Given the description of an element on the screen output the (x, y) to click on. 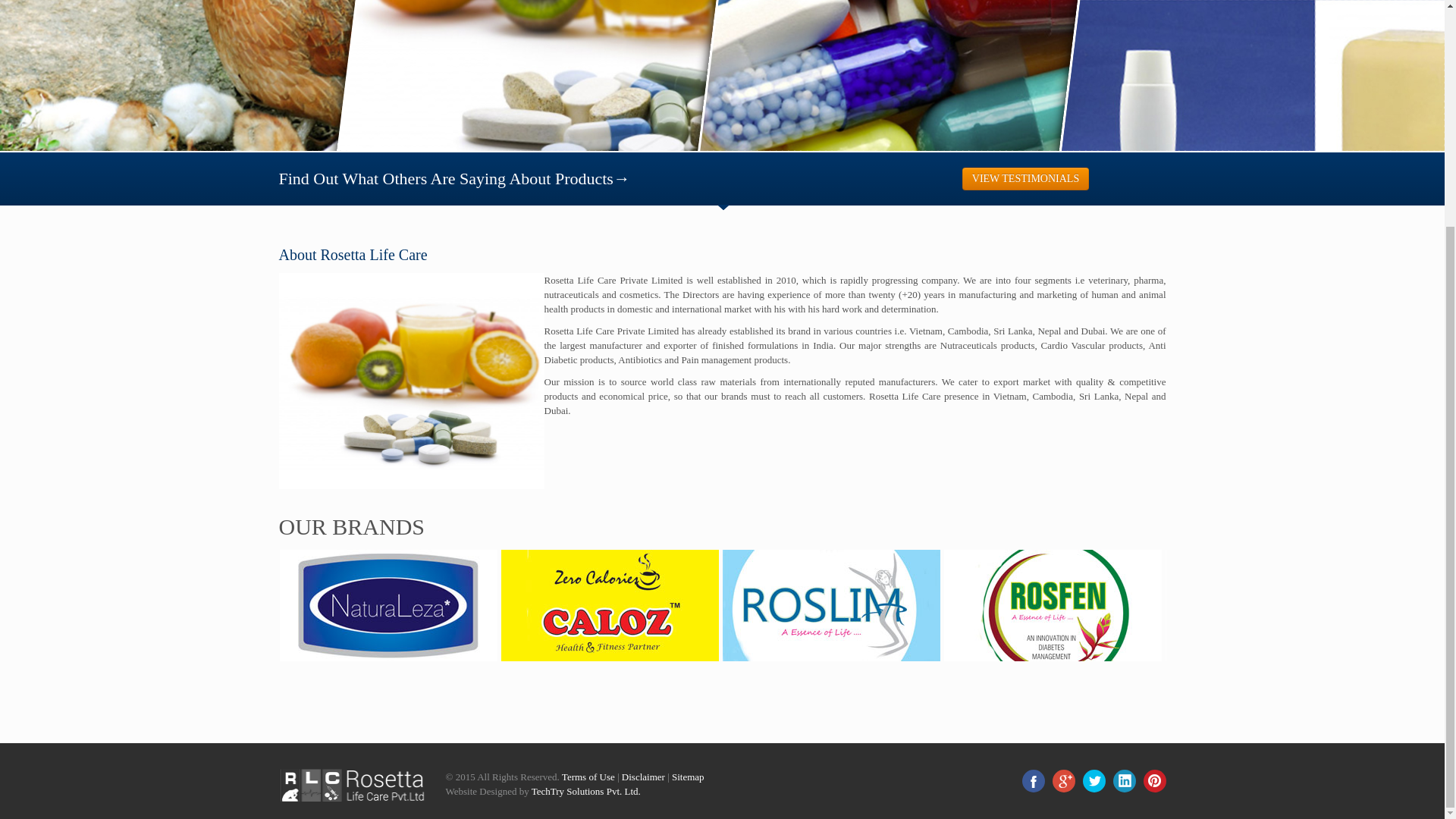
LinkedIn (1124, 780)
VIEW TESTIMONIALS (1025, 178)
Disclaimer (643, 776)
Pinterest (1154, 780)
Sitemap (687, 776)
Website Designing Company in Mumbai (585, 790)
Facebook (1033, 780)
Terms of Use (588, 776)
Twitter (1094, 780)
TechTry Solutions Pvt. Ltd. (585, 790)
